Given the description of an element on the screen output the (x, y) to click on. 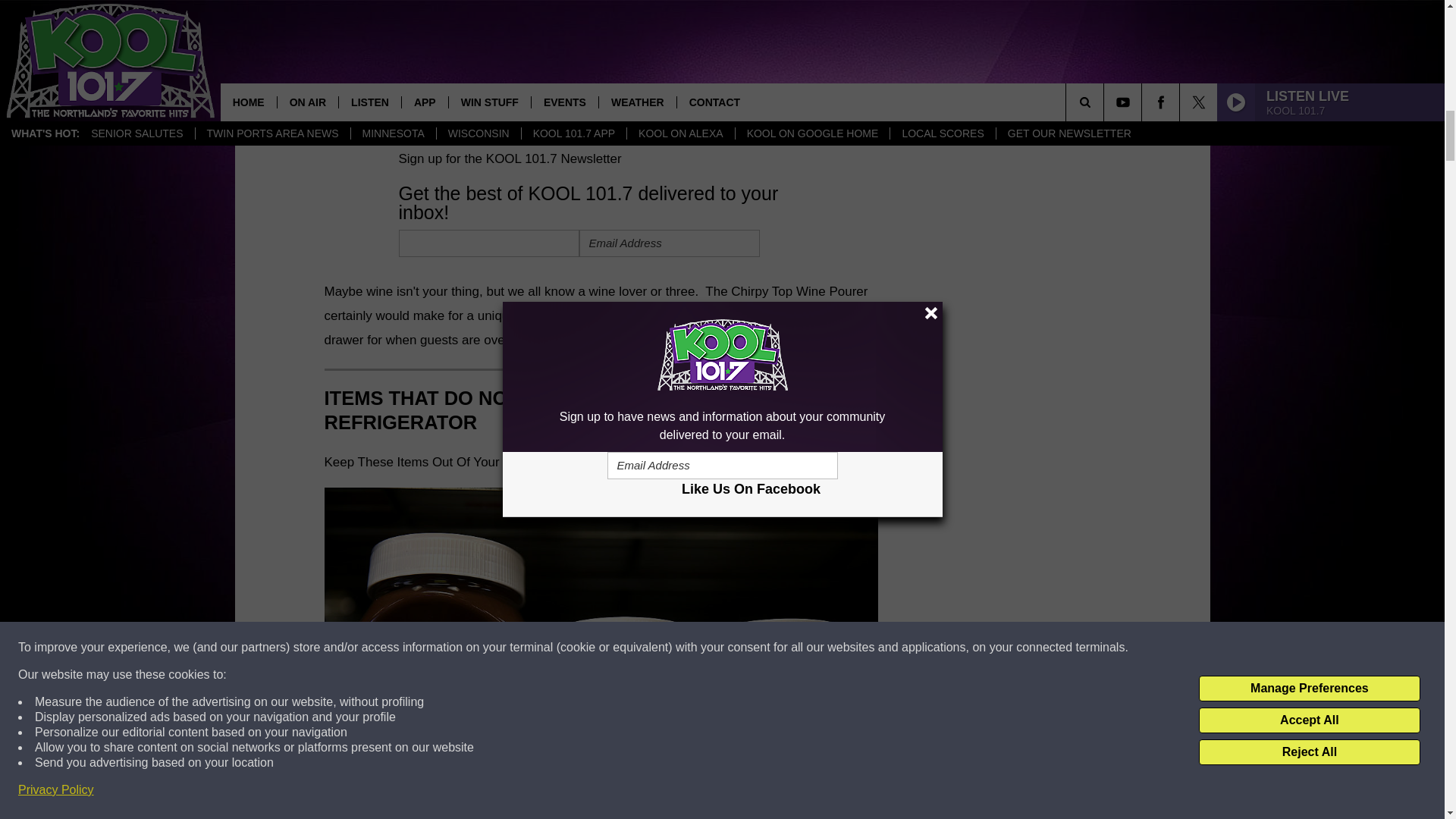
Email Address (669, 243)
